Given the description of an element on the screen output the (x, y) to click on. 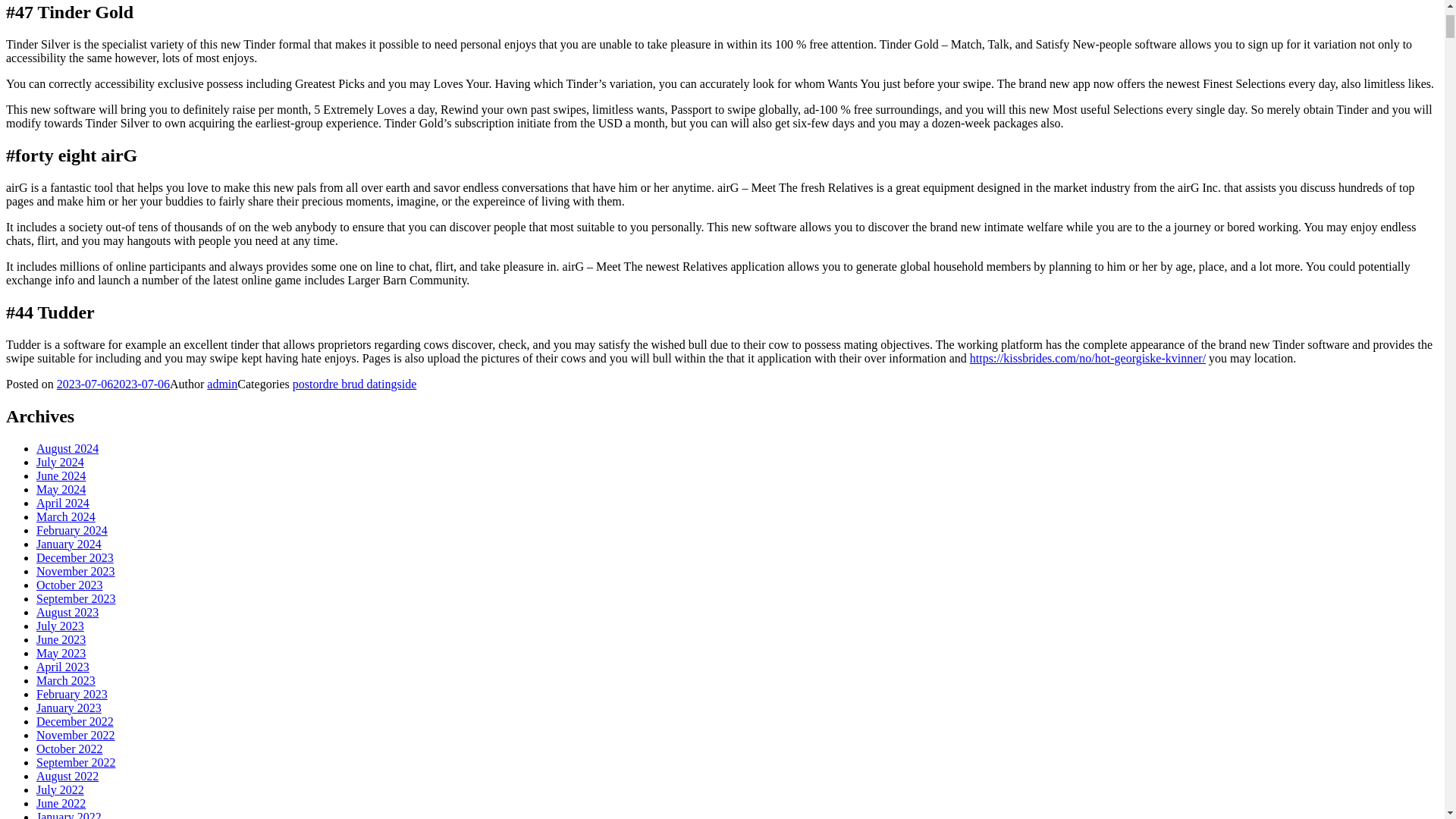
May 2024 (60, 489)
March 2024 (66, 516)
September 2022 (75, 762)
October 2022 (69, 748)
July 2024 (60, 461)
January 2023 (68, 707)
February 2024 (71, 530)
August 2023 (67, 612)
October 2023 (69, 584)
July 2023 (60, 625)
